Given the description of an element on the screen output the (x, y) to click on. 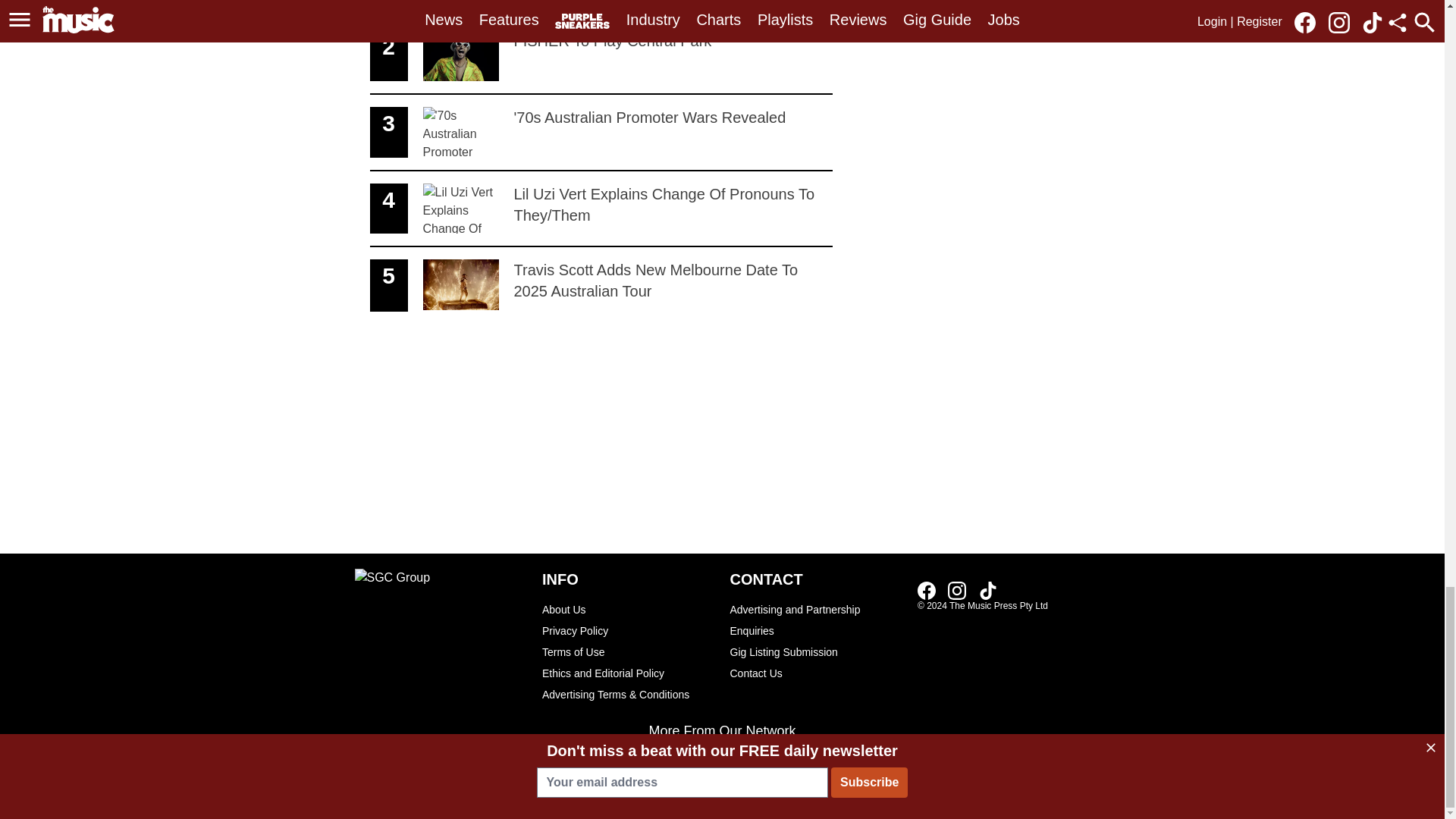
Link to our TikTok (987, 590)
Privacy Policy (600, 133)
Link to our Facebook (627, 630)
FISHER To Play Central Park (926, 590)
About Us (961, 14)
Link to our Instagram (627, 608)
Terms of Use (600, 9)
